Given the description of an element on the screen output the (x, y) to click on. 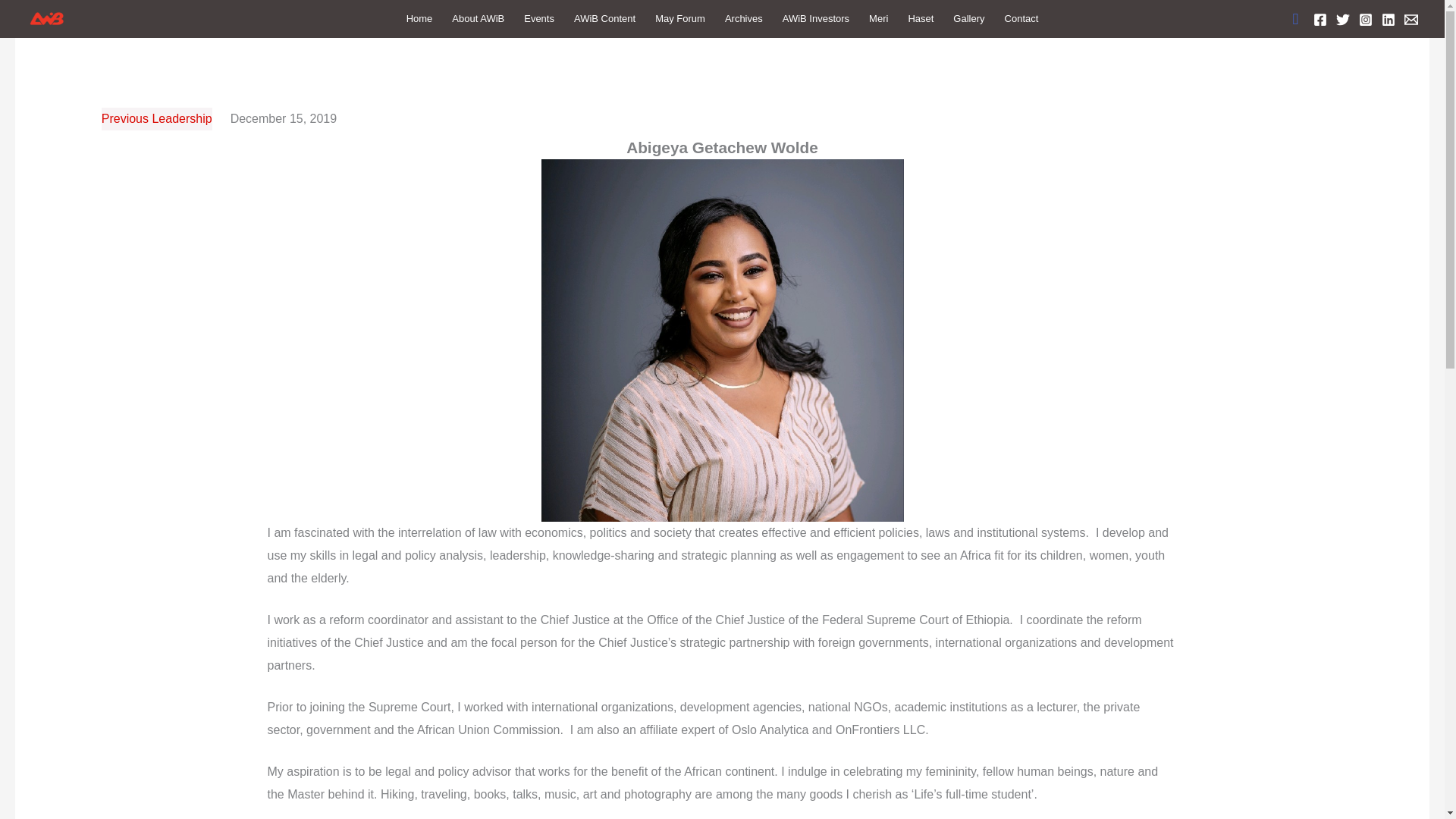
May Forum (679, 18)
Home (419, 18)
AWiB Content (604, 18)
Meri (878, 18)
Archives (743, 18)
Events (538, 18)
AWiB Investors (816, 18)
About AWiB (477, 18)
